Given the description of an element on the screen output the (x, y) to click on. 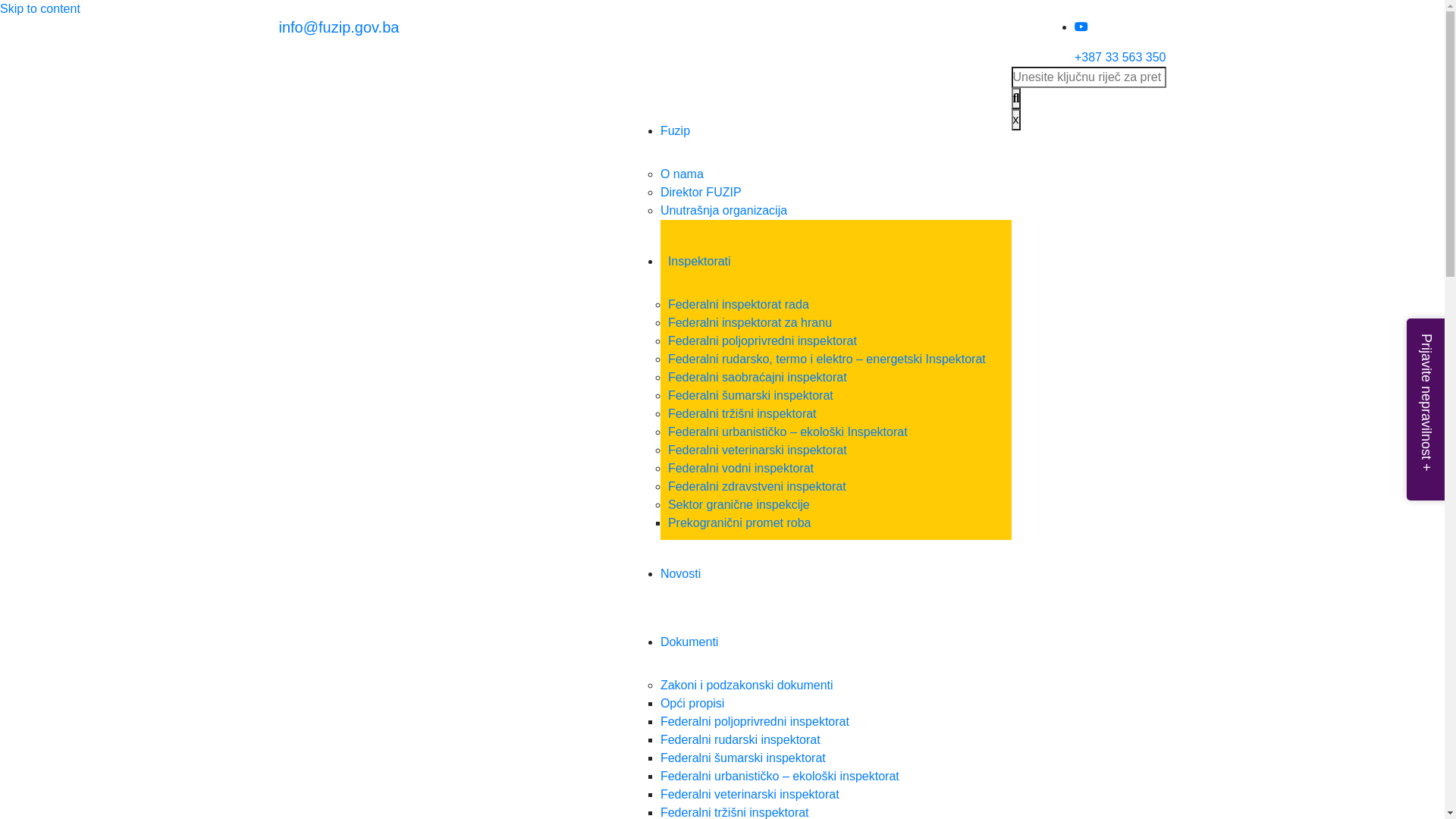
Federalni poljoprivredni inspektorat Element type: text (754, 721)
Federalni inspektorat rada Element type: text (738, 304)
Federalni rudarski inspektorat Element type: text (740, 739)
x Element type: text (1015, 119)
+387 33 563 350 Element type: text (1120, 56)
Federalni poljoprivredni inspektorat Element type: text (762, 340)
info@fuzip.gov.ba Element type: text (339, 27)
Federalni inspektorat za hranu Element type: text (749, 322)
O nama Element type: text (681, 173)
Dokumenti Element type: text (689, 641)
Federalni veterinarski inspektorat Element type: text (749, 793)
Fuzip Element type: text (675, 130)
Federalni veterinarski inspektorat Element type: text (757, 449)
Novosti Element type: text (680, 573)
Federalni zdravstveni inspektorat Element type: text (757, 486)
Direktor FUZIP Element type: text (700, 191)
Skip to content Element type: text (40, 8)
Federalni vodni inspektorat Element type: text (740, 467)
Inspektorati Element type: text (699, 260)
Zakoni i podzakonski dokumenti Element type: text (746, 684)
